Given the description of an element on the screen output the (x, y) to click on. 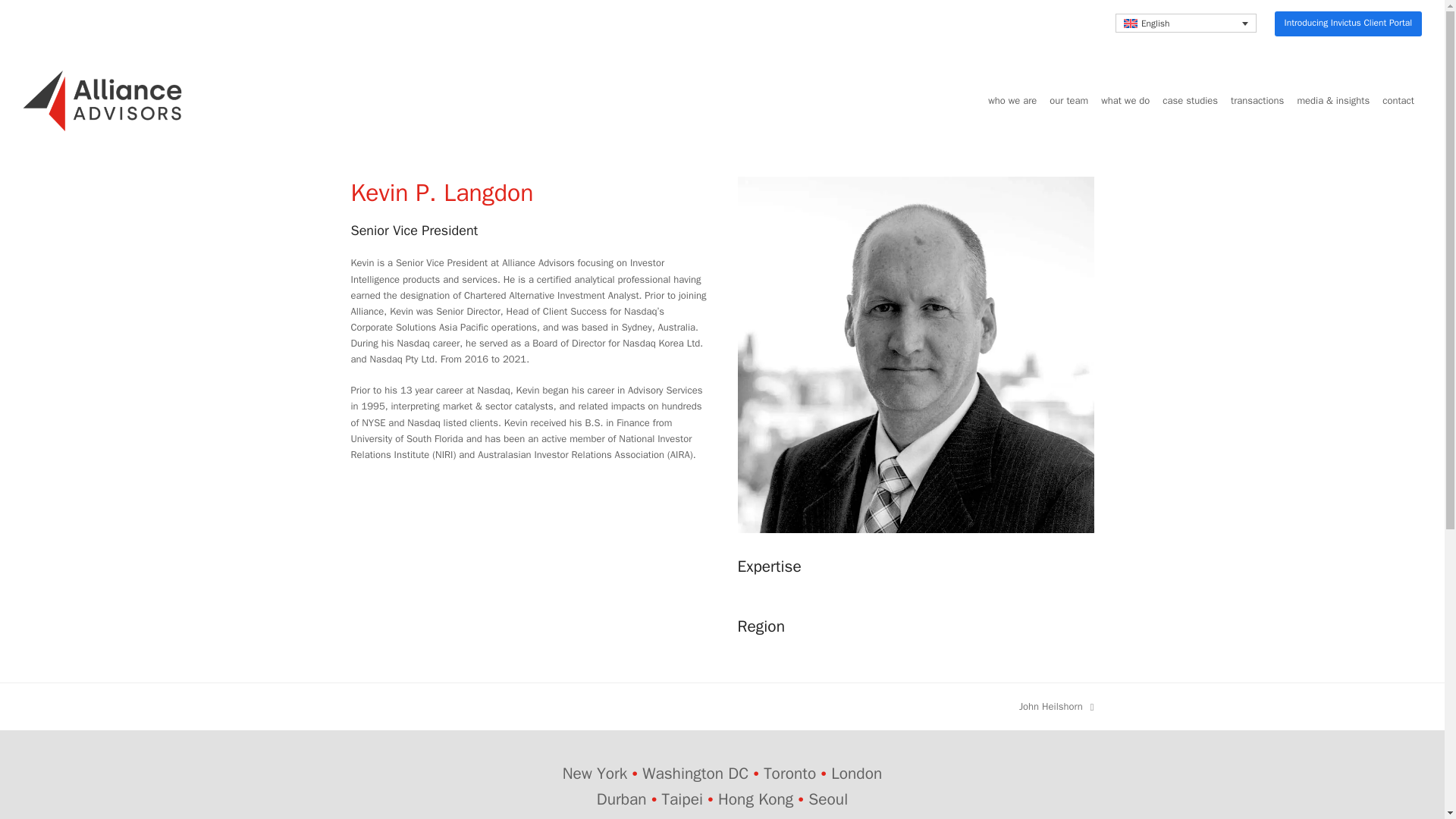
our team (1068, 100)
who we are (1012, 100)
what we do (1125, 100)
contact (1056, 706)
Page 1 (1398, 100)
English (721, 786)
transactions (1185, 22)
case studies (1257, 100)
Introducing Invictus Client Portal (1189, 100)
